Given the description of an element on the screen output the (x, y) to click on. 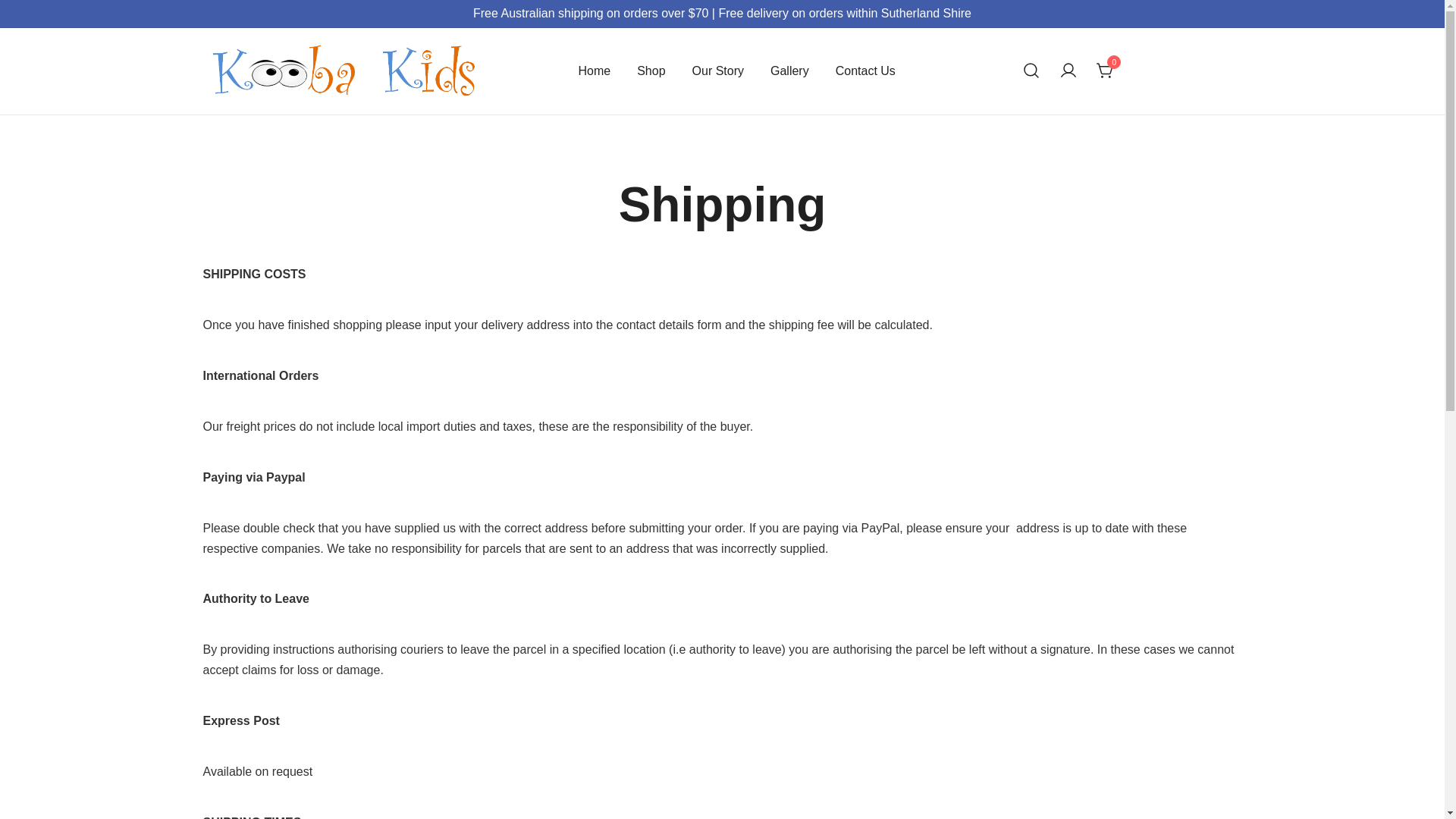
Search for a product Element type: hover (1031, 71)
Kooba Kids Element type: text (245, 130)
Home Element type: text (593, 71)
Shop Element type: text (651, 71)
0 Element type: text (1105, 69)
Contact Us Element type: text (865, 71)
Gallery Element type: text (789, 71)
Our Story Element type: text (717, 71)
Your account Element type: hover (1068, 71)
